Given the description of an element on the screen output the (x, y) to click on. 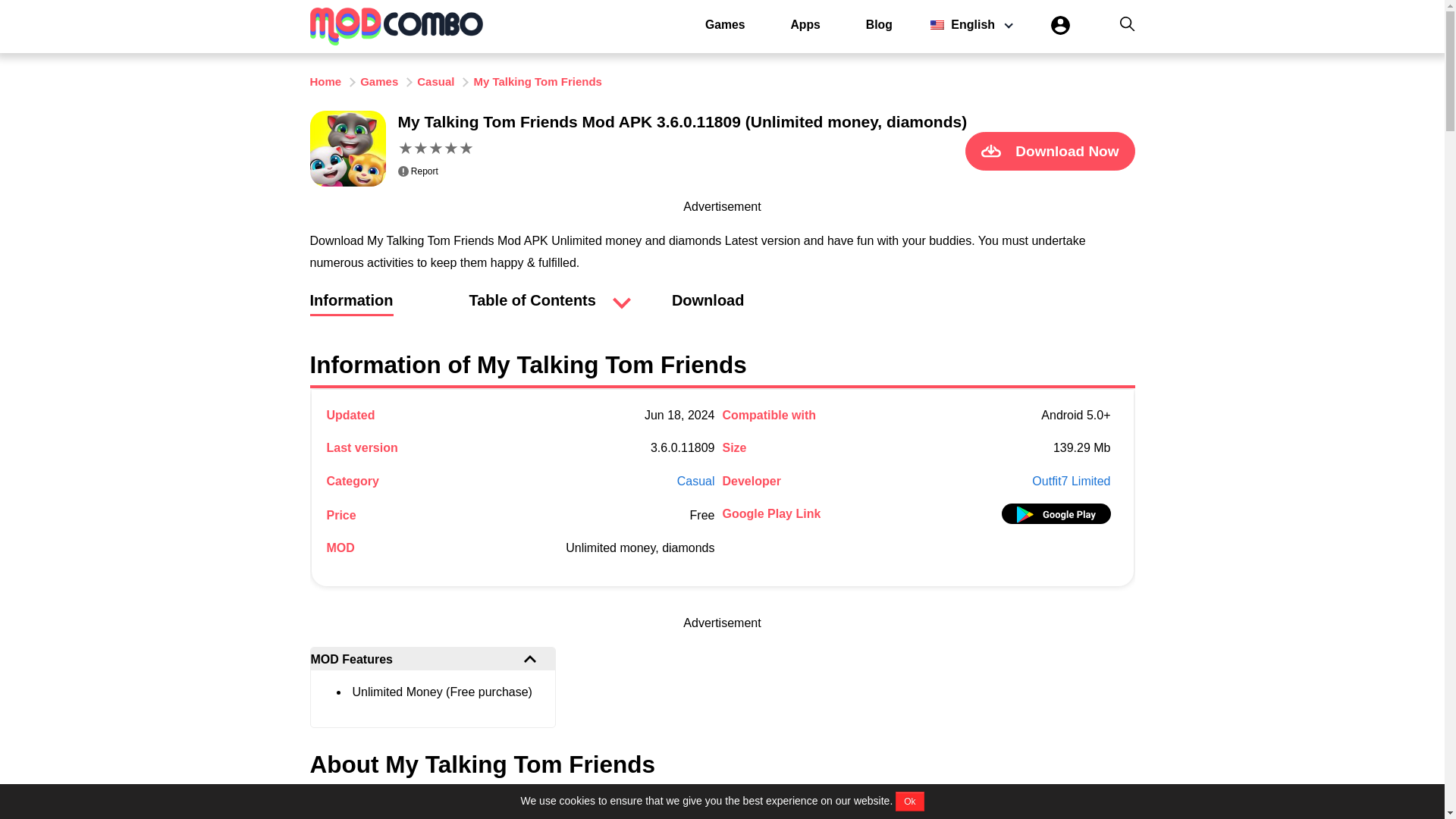
Casual (435, 81)
Table of Contents (531, 299)
English (967, 24)
Casual (695, 481)
Download Now (1049, 150)
Games (725, 24)
Blog (879, 24)
Information (350, 307)
Blog (879, 24)
Games (725, 24)
Apps (805, 24)
Home (324, 81)
Download (707, 307)
Apps (805, 24)
Outfit7 Limited (1070, 481)
